Given the description of an element on the screen output the (x, y) to click on. 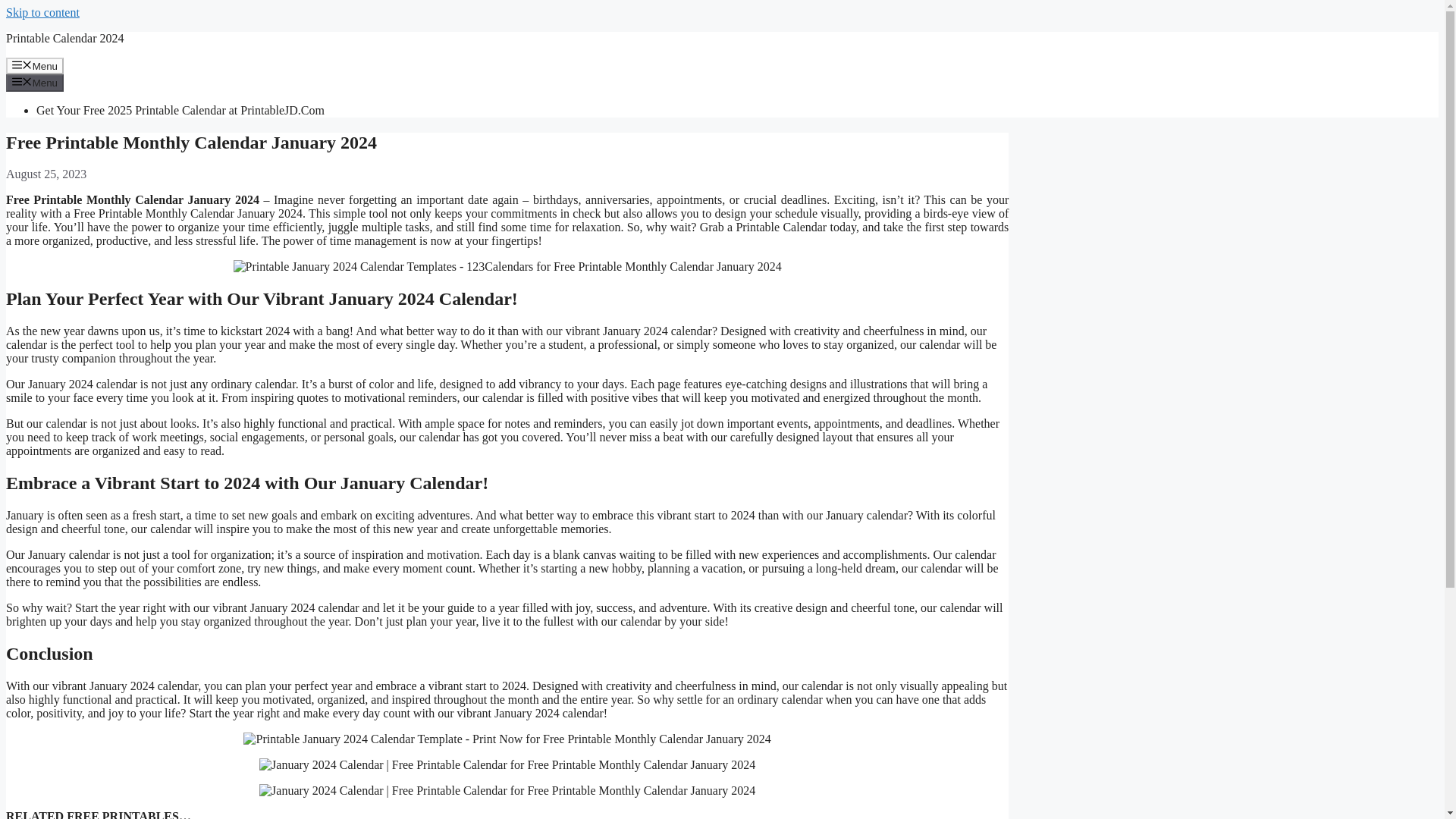
Printable Calendar 2024 (64, 38)
Get Your Free 2025 Printable Calendar at PrintableJD.Com (180, 110)
Menu (34, 65)
Skip to content (42, 11)
Menu (34, 82)
Skip to content (42, 11)
